Given the description of an element on the screen output the (x, y) to click on. 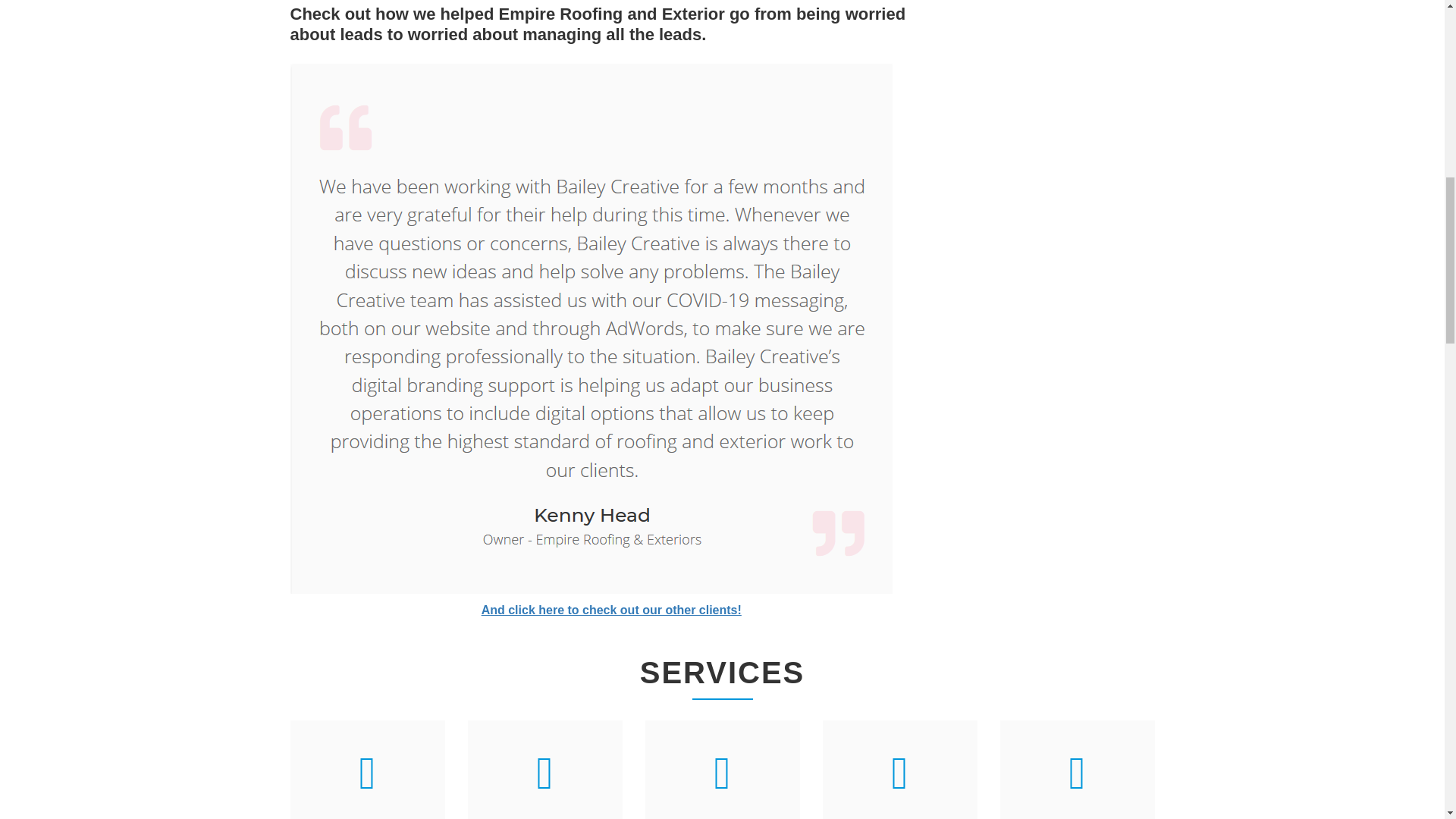
And click here to check out our other clients! (611, 609)
